Given the description of an element on the screen output the (x, y) to click on. 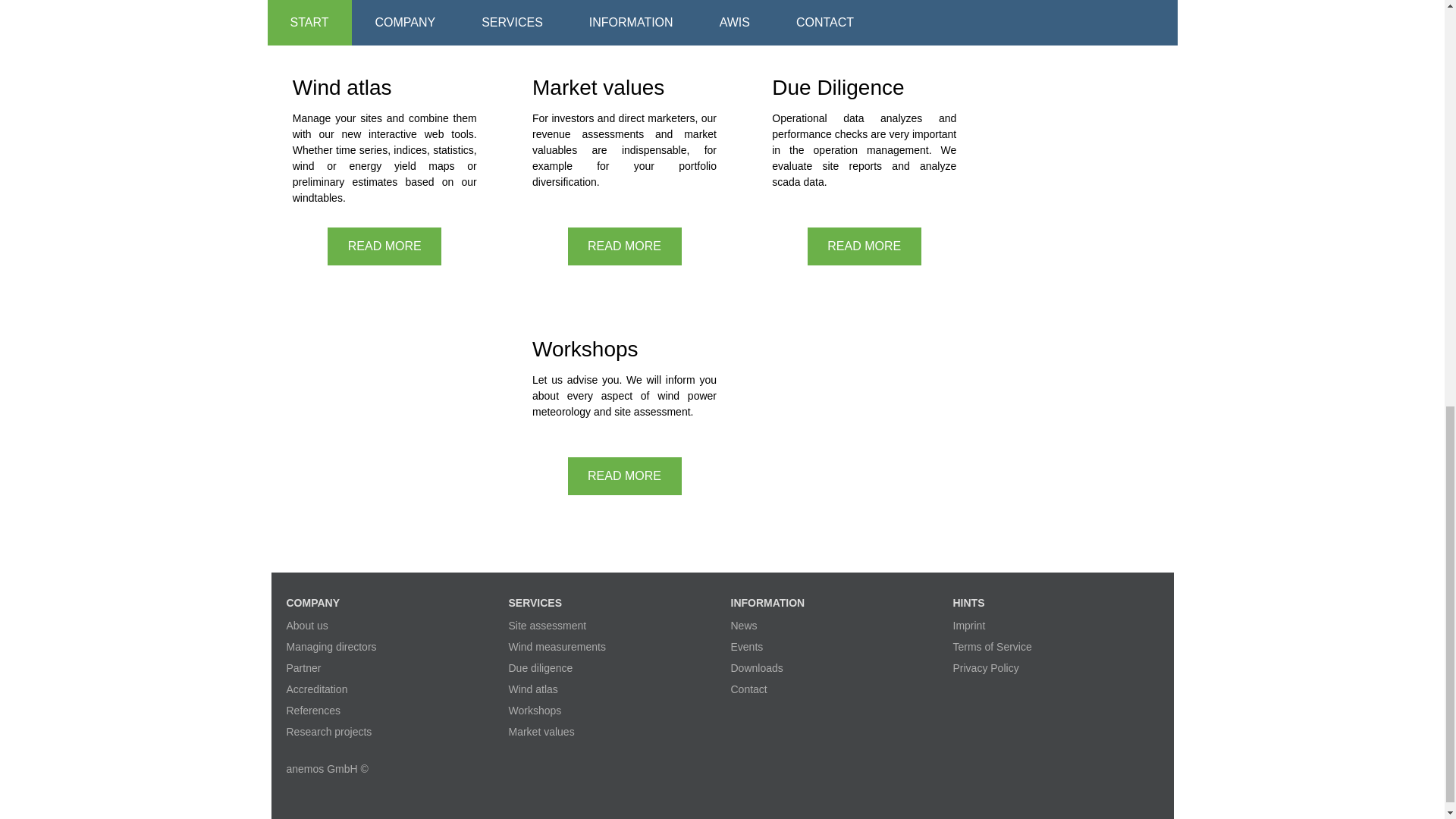
Terms of Service (991, 646)
READ MORE (384, 2)
